Given the description of an element on the screen output the (x, y) to click on. 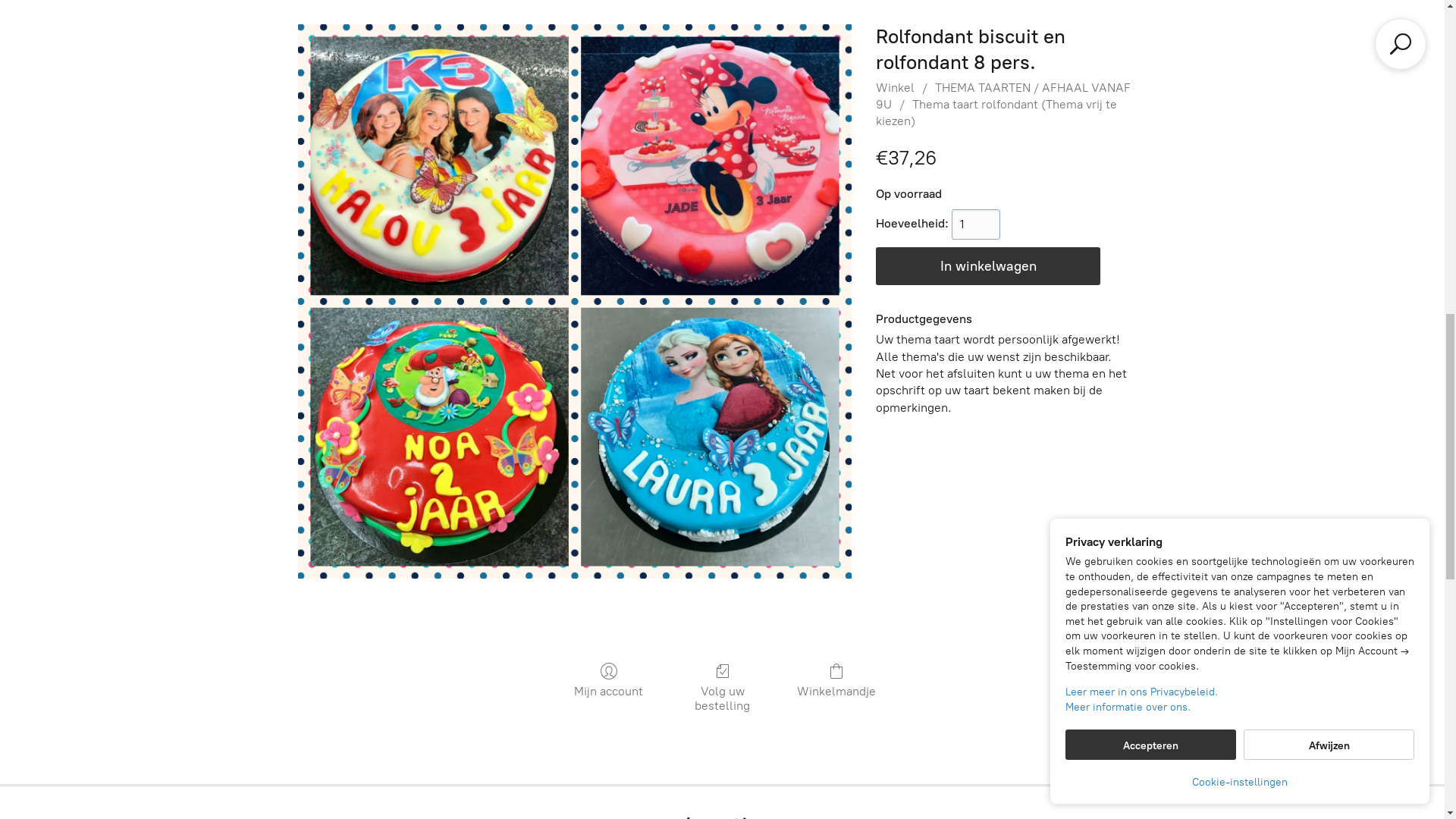
Locatie Element type: text (113, 26)
Contact Element type: text (181, 26)
Openingstijden Element type: text (800, 26)
Winkel Element type: text (48, 26)
050/78.88.55 Element type: text (1166, 538)
Bestel online! Element type: text (1166, 483)
